Given the description of an element on the screen output the (x, y) to click on. 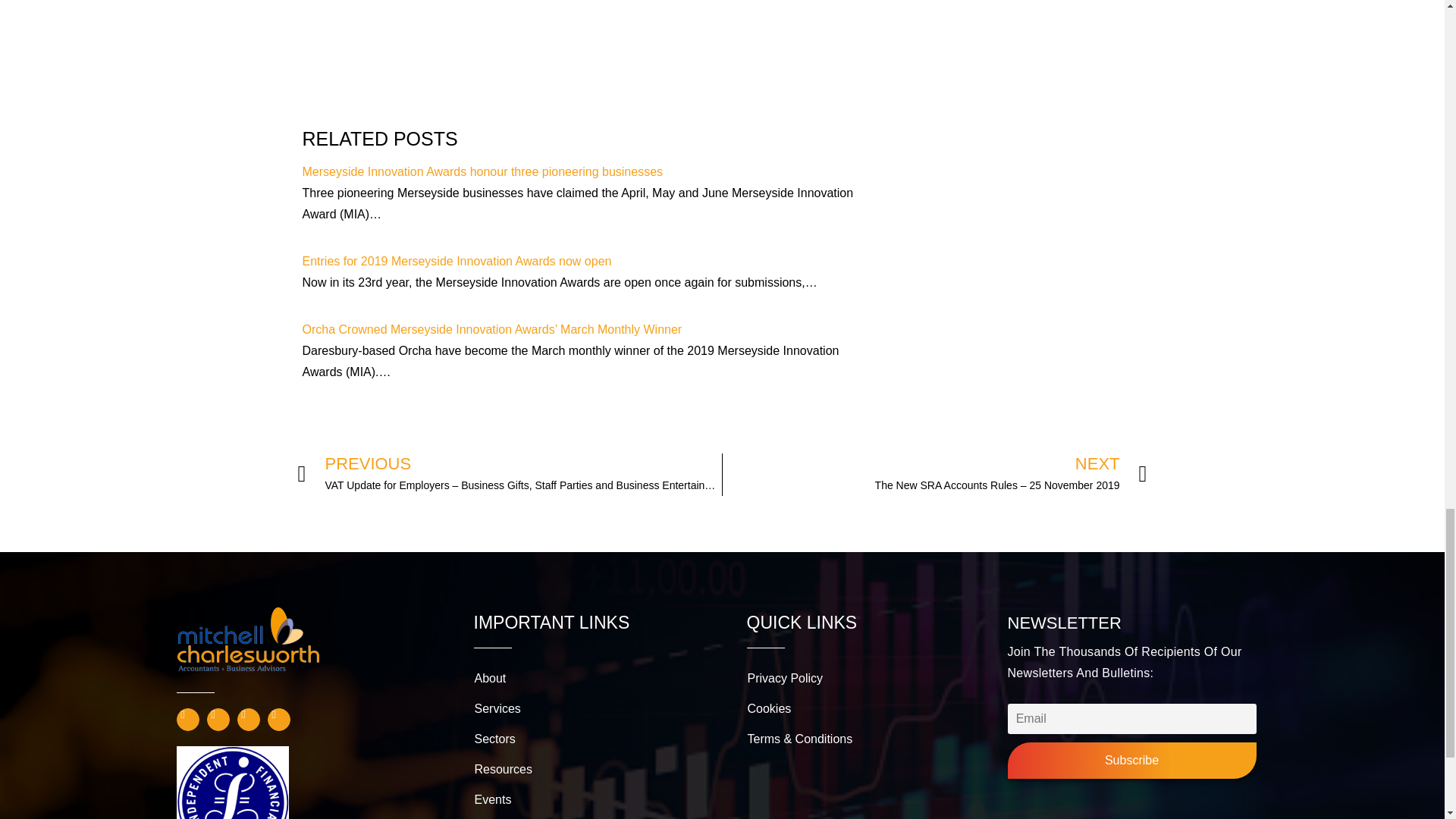
Subscribe (1131, 760)
YouTube video player (580, 54)
